Given the description of an element on the screen output the (x, y) to click on. 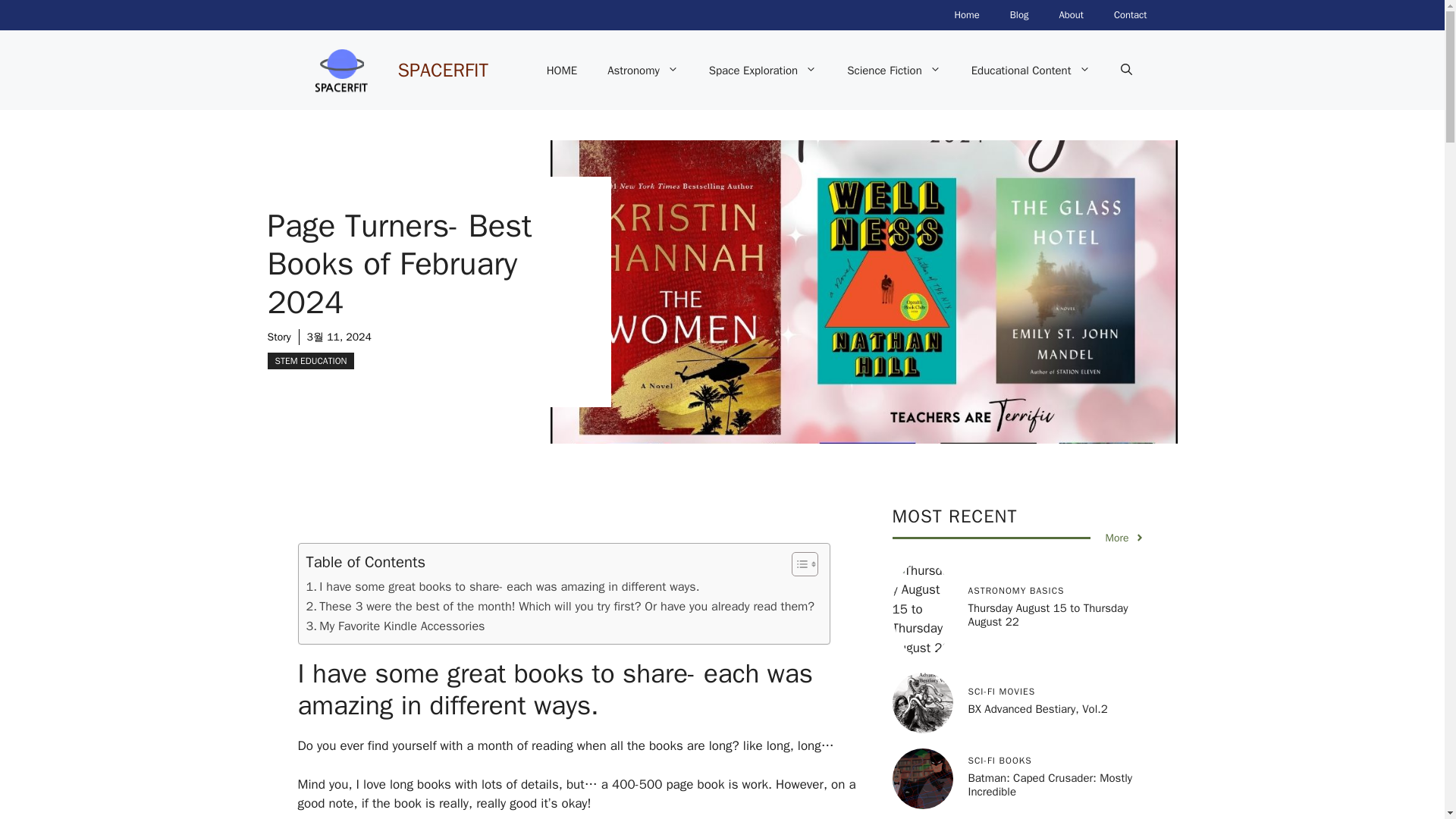
Contact (1130, 15)
Story (277, 336)
My Favorite Kindle Accessories (394, 626)
STEM EDUCATION (309, 360)
Batman: Caped Crusader: Mostly Incredible (921, 778)
Science Fiction (893, 69)
BX Advanced Bestiary, Vol.2 (921, 702)
SPACERFIT (442, 69)
